Given the description of an element on the screen output the (x, y) to click on. 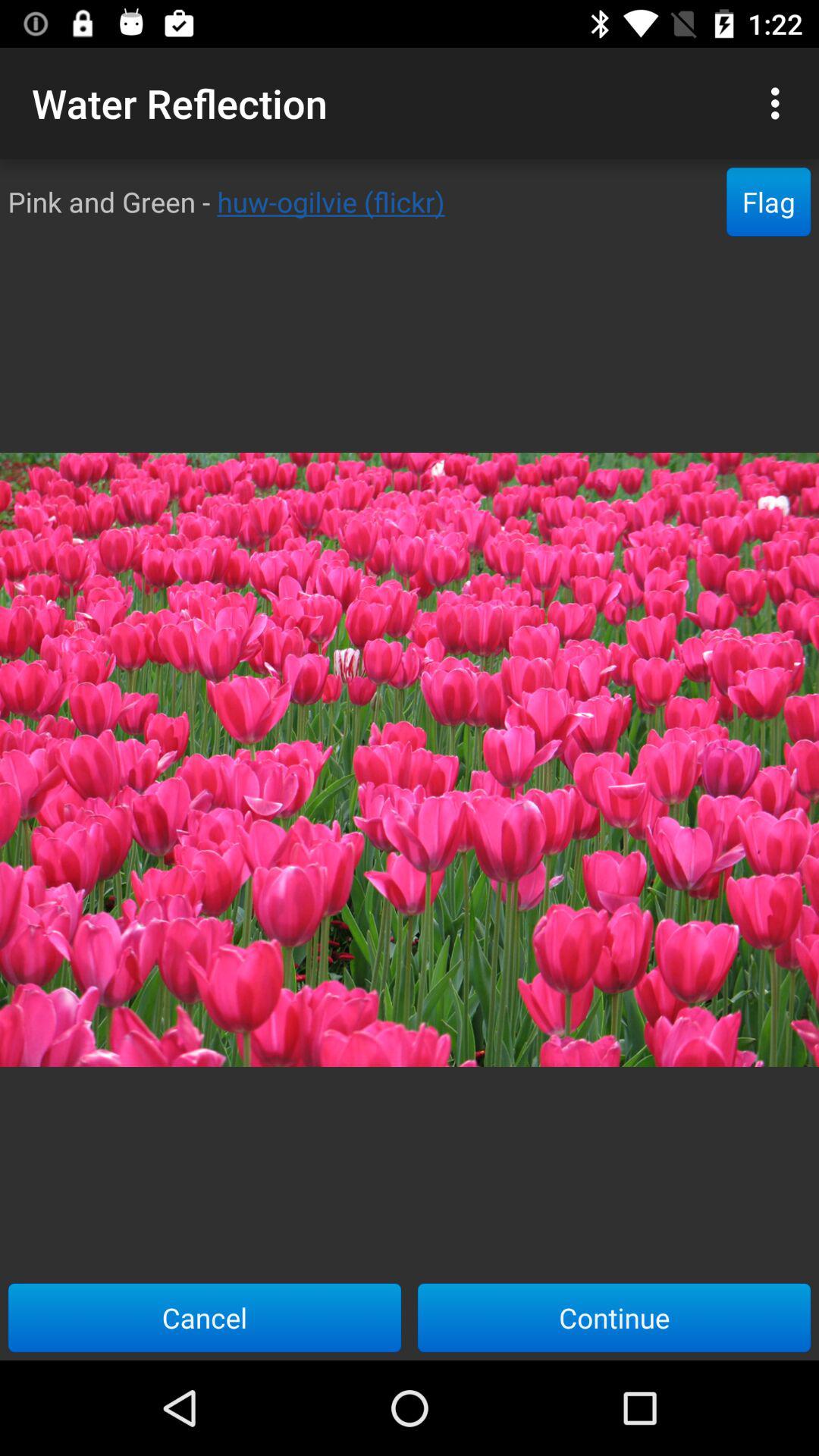
choose the icon to the right of the cancel (614, 1317)
